Given the description of an element on the screen output the (x, y) to click on. 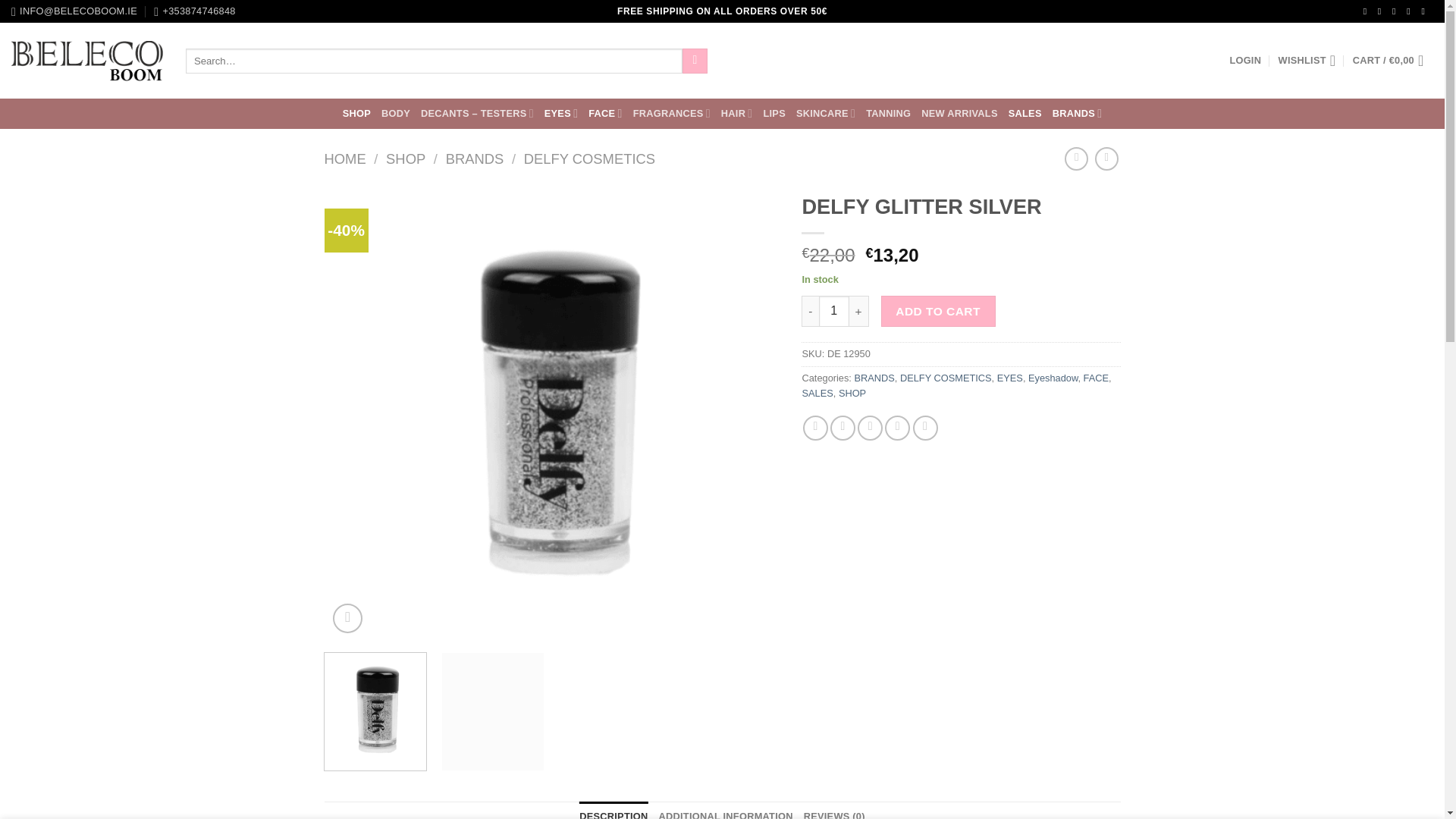
Search (694, 61)
FRAGRANCES (671, 112)
Login (1244, 60)
FACE (604, 112)
WISHLIST (1307, 60)
SHOP (356, 113)
EYES (561, 112)
LOGIN (1244, 60)
BODY (395, 113)
Cart (1392, 60)
